Given the description of an element on the screen output the (x, y) to click on. 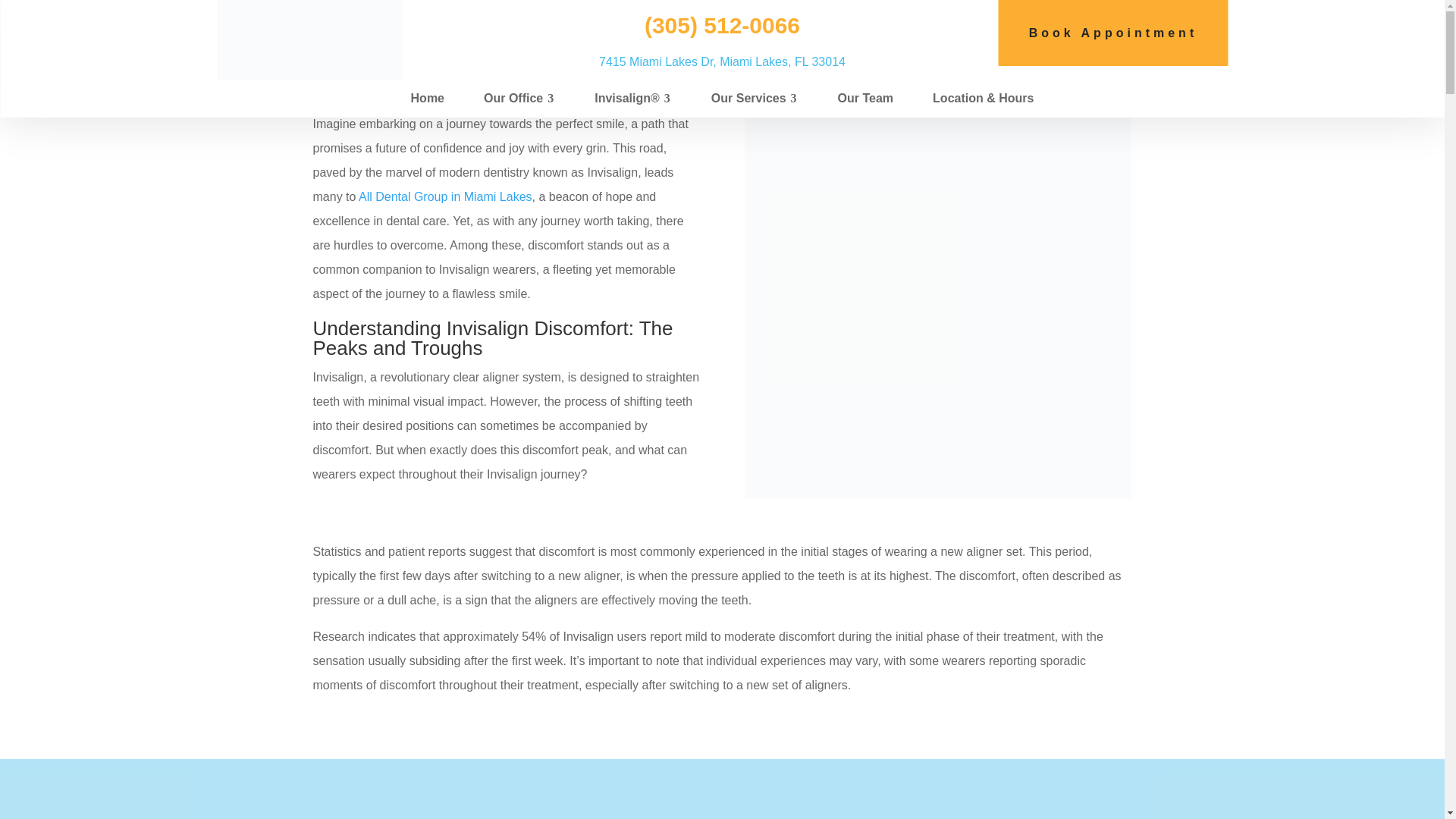
Click to Call All Dental Group (722, 25)
Our Office (519, 98)
Home (427, 98)
Book Appointment (1113, 33)
7415 Miami Lakes Dr, Miami Lakes, FL 33014 (721, 61)
Our Services (754, 98)
Our Team (866, 98)
